Given the description of an element on the screen output the (x, y) to click on. 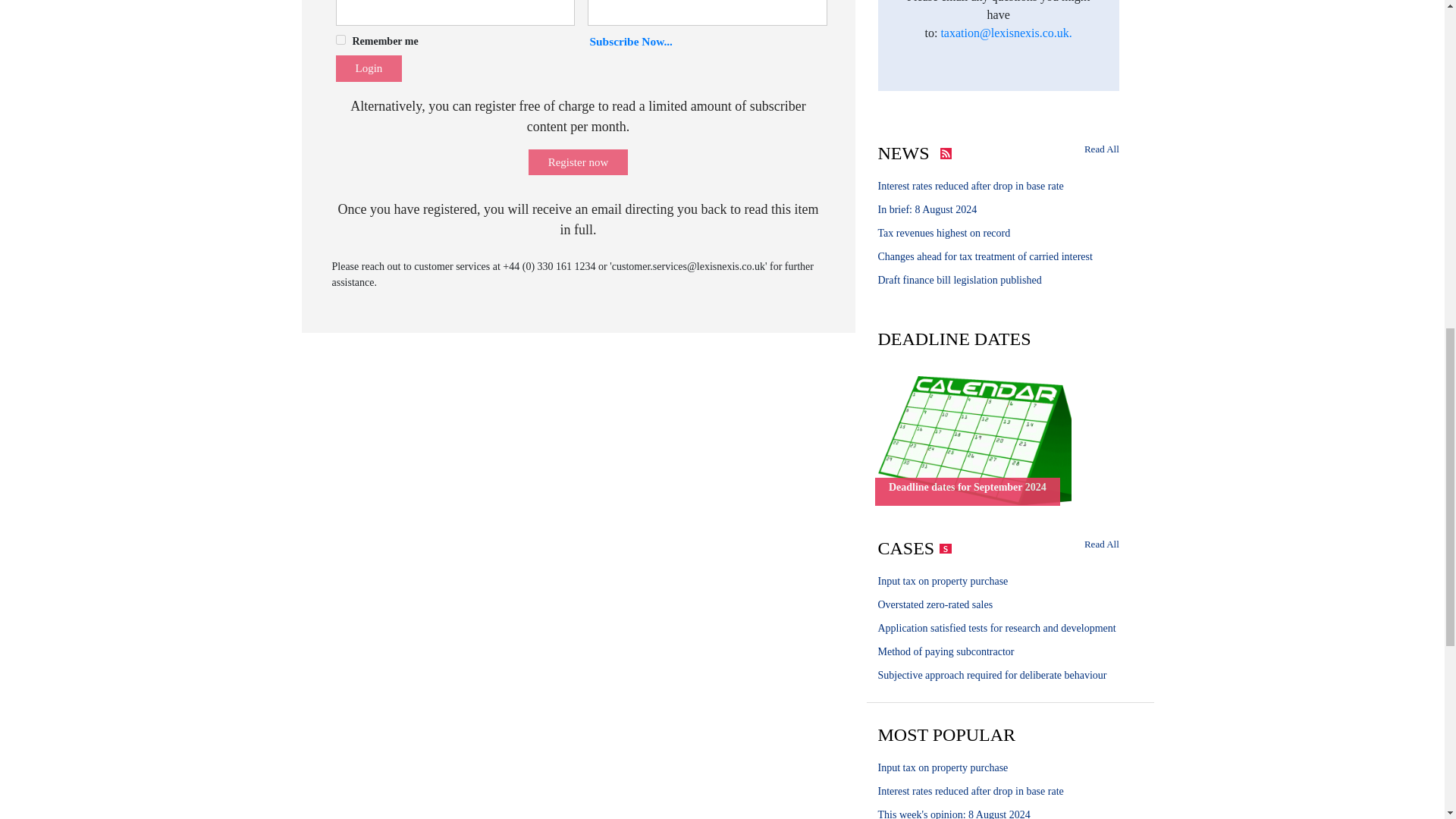
Login (367, 68)
true (339, 40)
